Given the description of an element on the screen output the (x, y) to click on. 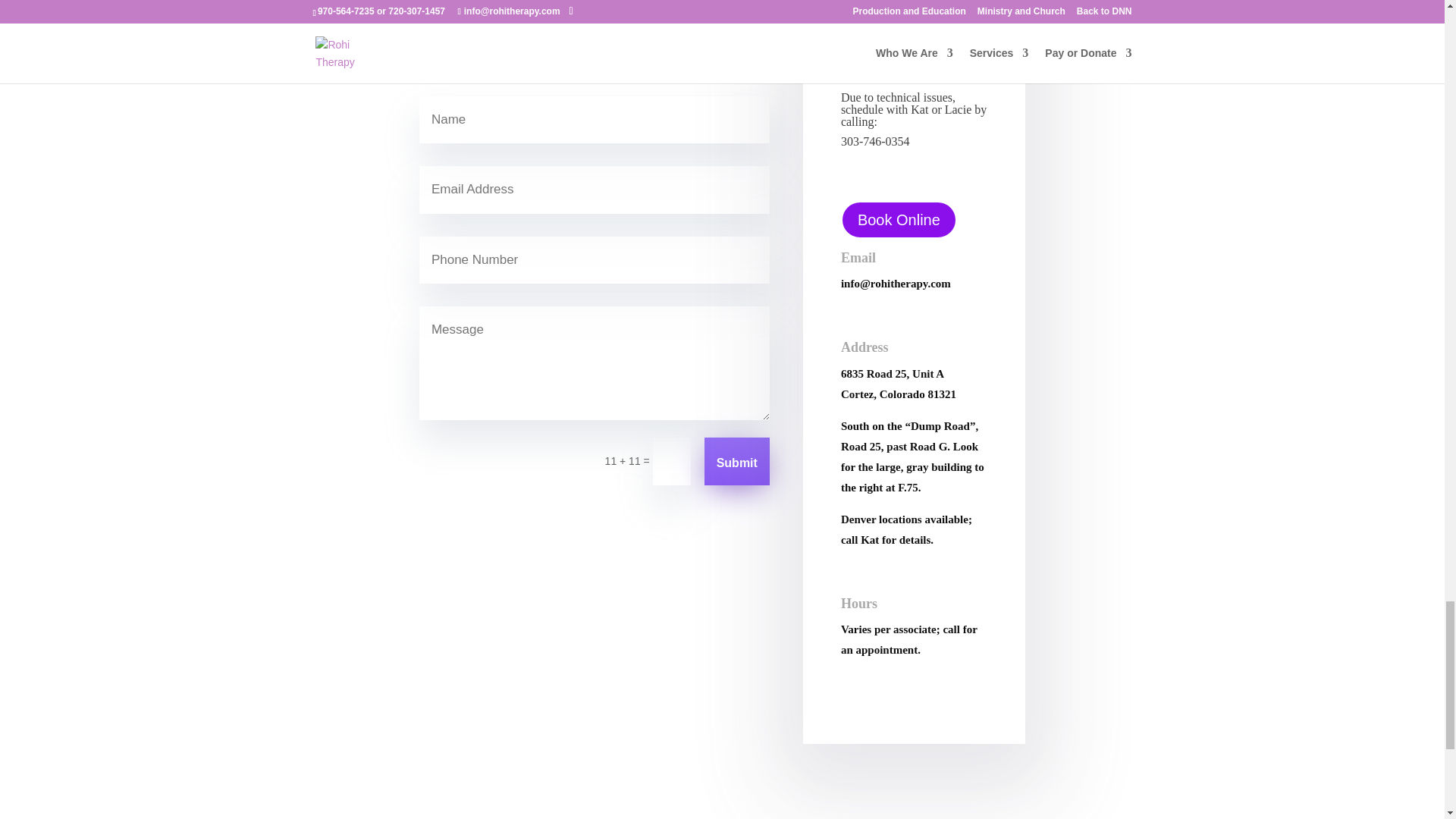
Submit (737, 461)
Book Online (898, 219)
